Given the description of an element on the screen output the (x, y) to click on. 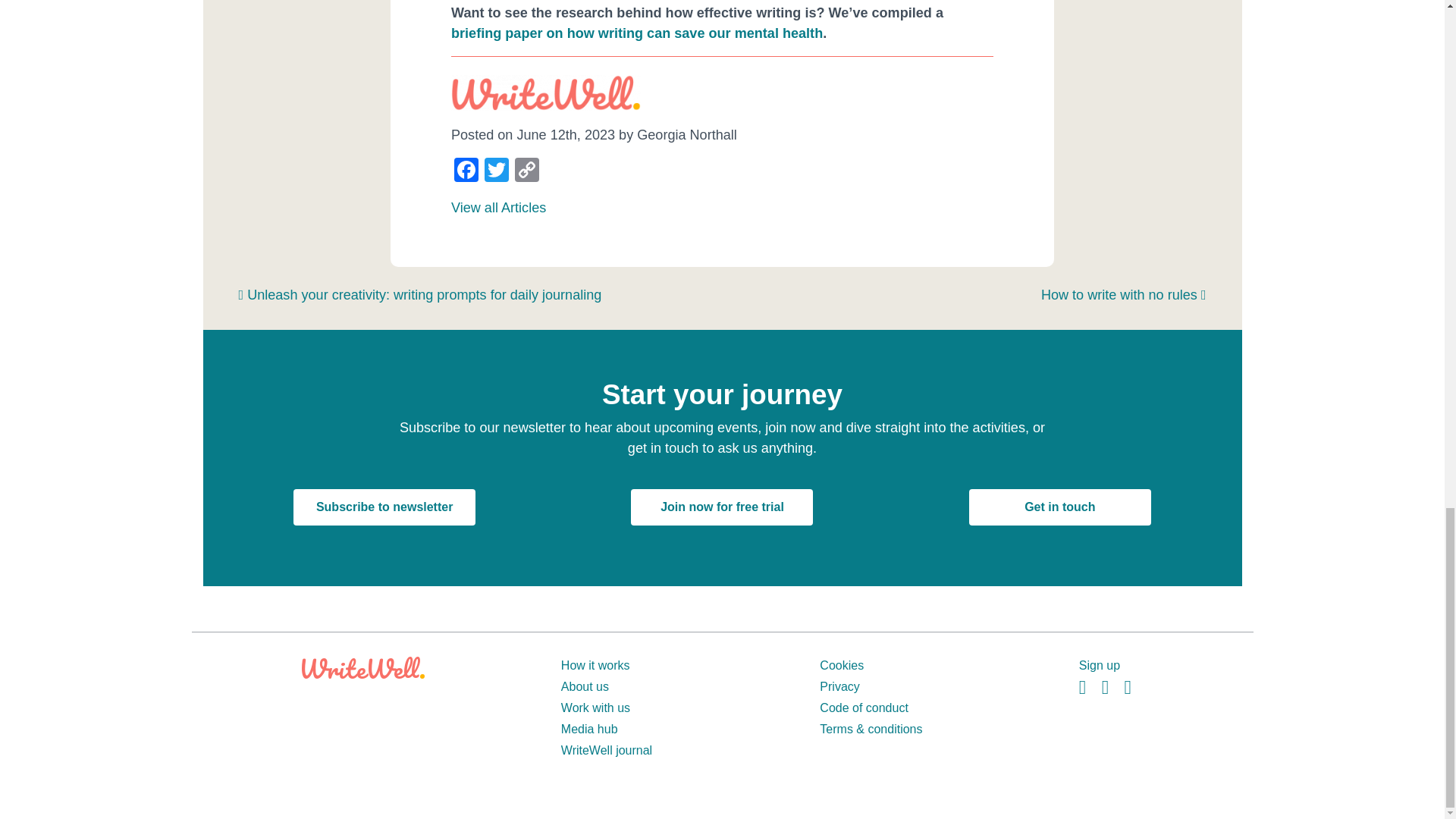
Get in touch (1060, 506)
Code of conduct (863, 707)
How to write with no rules  (1124, 294)
briefing paper on how writing can save our mental health (636, 32)
Copy Link (526, 171)
Privacy (839, 686)
Twitter (496, 171)
Work with us (595, 707)
Subscribe to newsletter (385, 506)
Cookies (841, 665)
WriteWell journal (606, 749)
Media hub (588, 728)
About us (584, 686)
Twitter (496, 171)
